Given the description of an element on the screen output the (x, y) to click on. 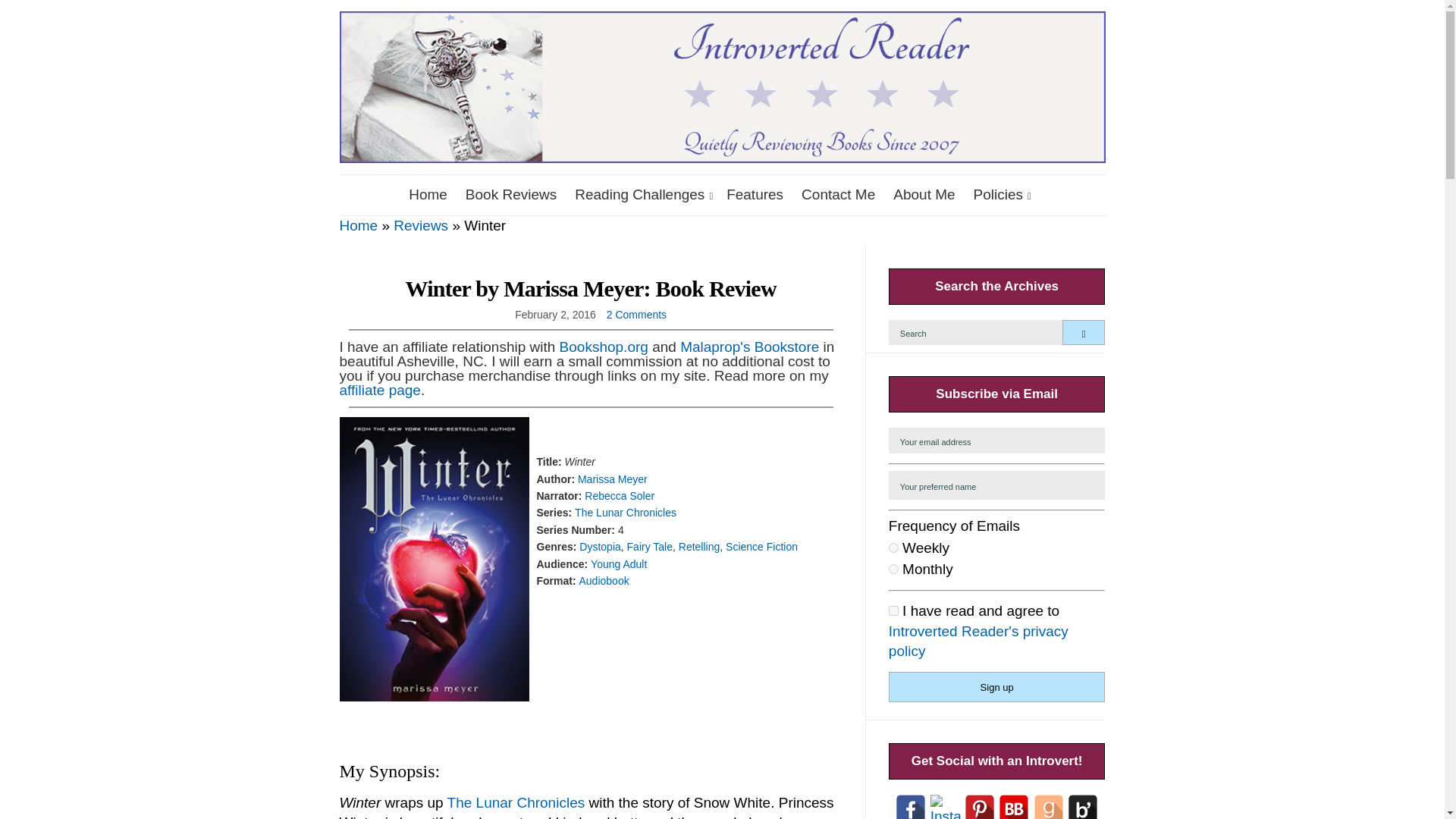
Sign up (996, 686)
Monthly (893, 569)
Instagram (945, 806)
Features (754, 195)
Facebook (910, 806)
Reviews (420, 225)
Policies (1000, 195)
Goodreads (1048, 806)
2 Comments (636, 314)
Weekly (893, 547)
